Given the description of an element on the screen output the (x, y) to click on. 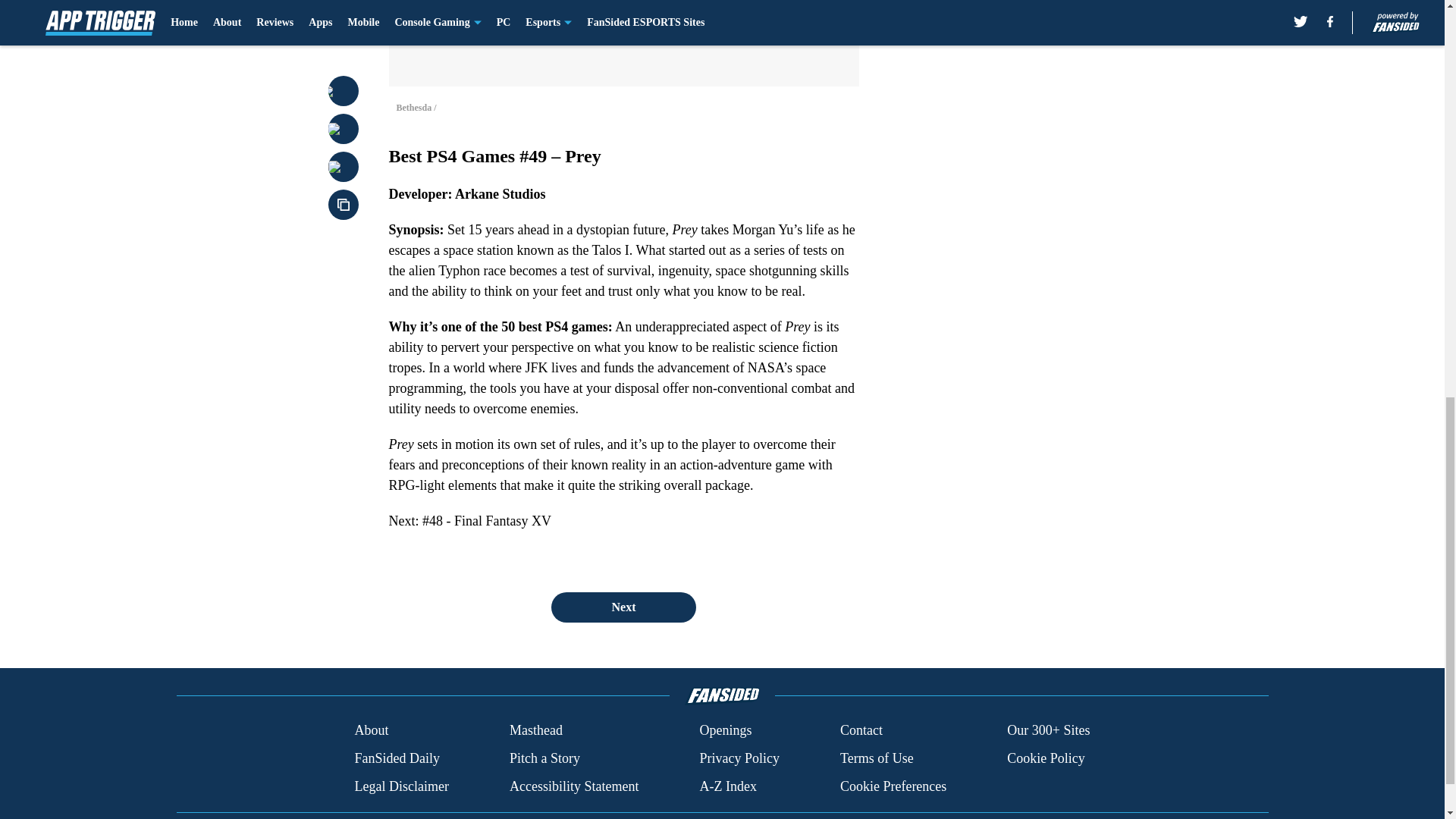
Contact (861, 730)
Privacy Policy (738, 758)
Next (622, 607)
Openings (724, 730)
Pitch a Story (544, 758)
Terms of Use (877, 758)
Masthead (535, 730)
FanSided Daily (396, 758)
About (370, 730)
